Given the description of an element on the screen output the (x, y) to click on. 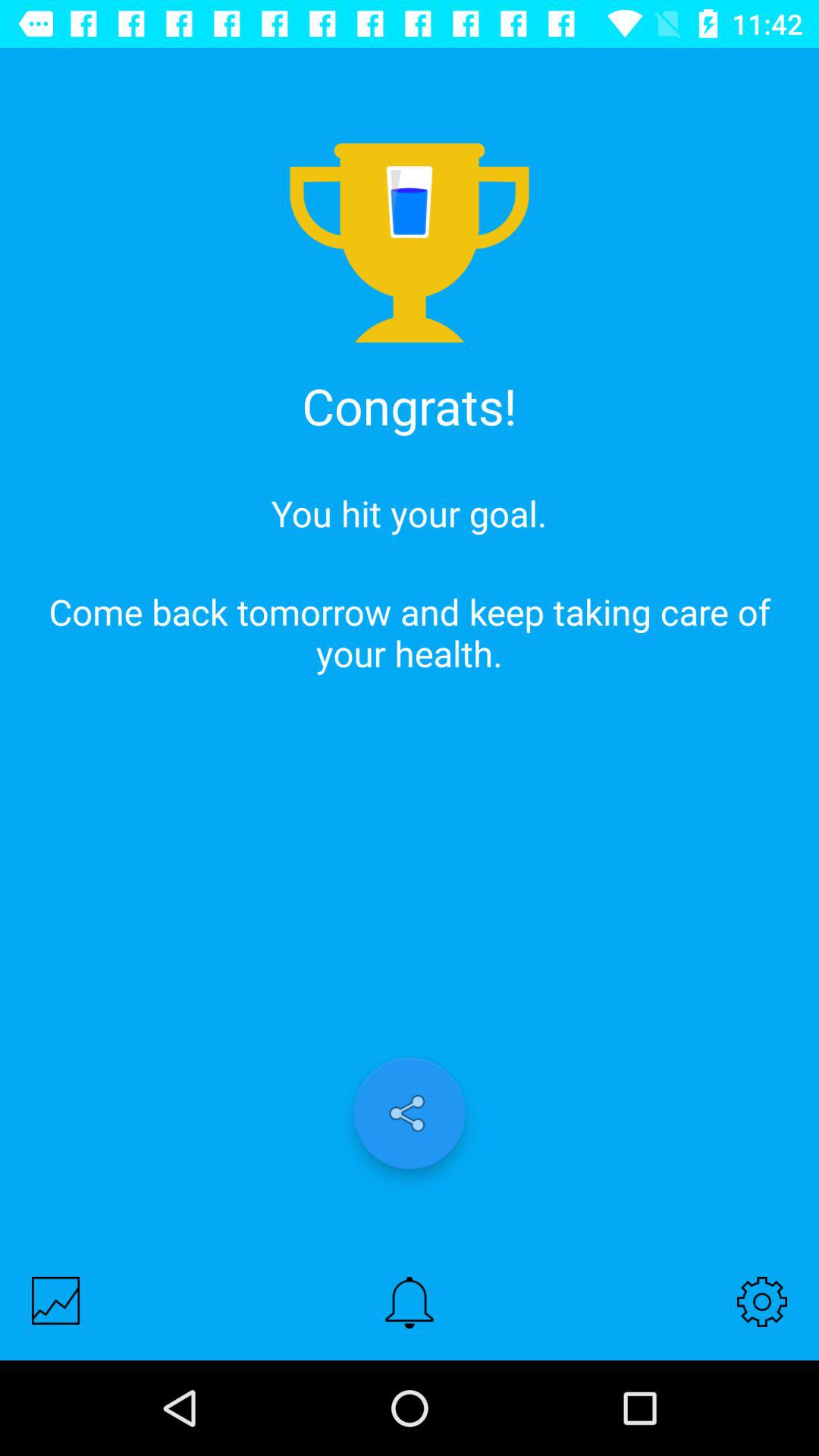
open the icon at the bottom right corner (762, 1301)
